Given the description of an element on the screen output the (x, y) to click on. 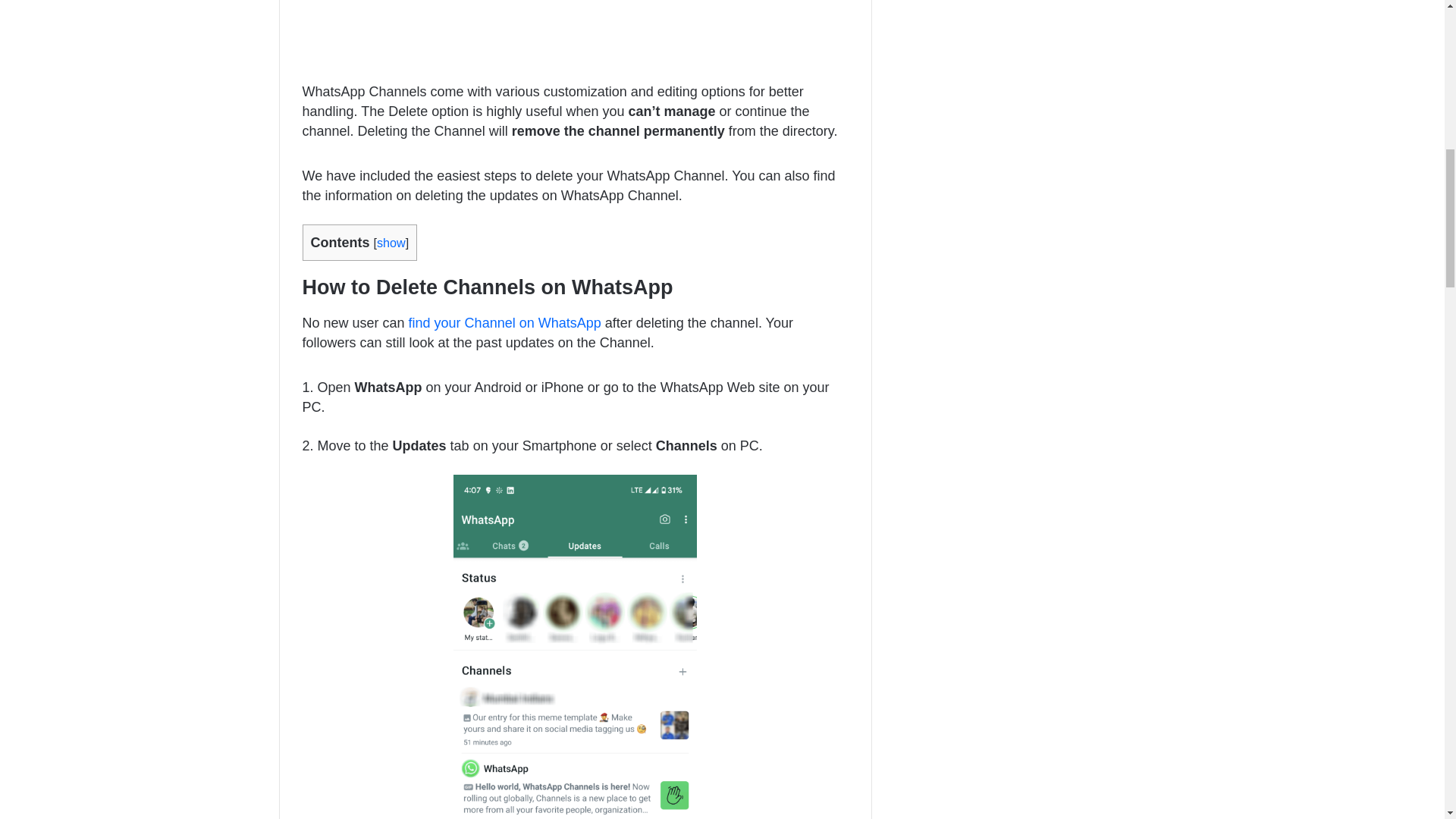
show (391, 242)
Advertisement (574, 38)
find your Channel on WhatsApp (505, 322)
